Given the description of an element on the screen output the (x, y) to click on. 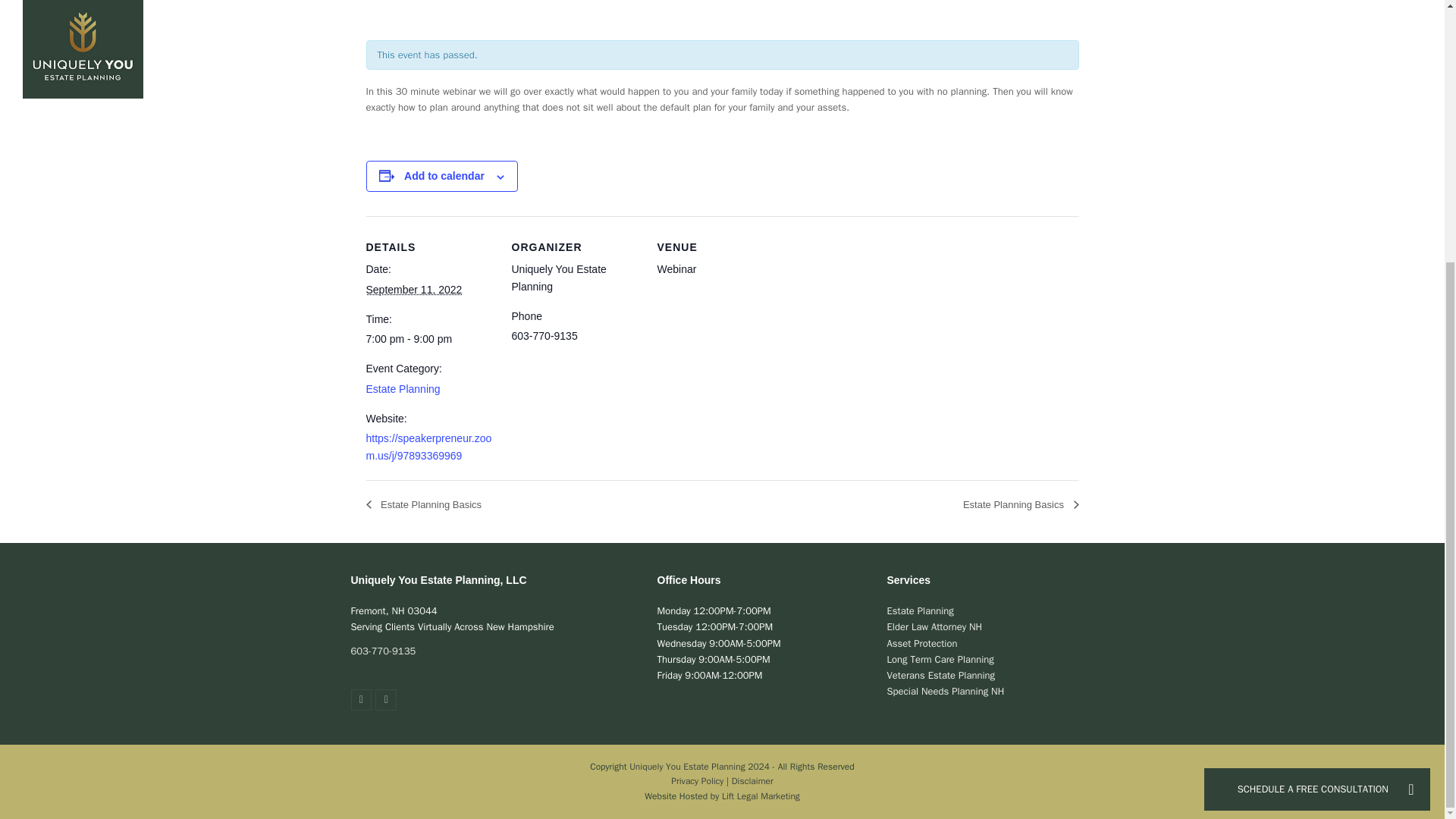
Estate Planning Basics (427, 504)
Estate Planning (402, 388)
Facebook (360, 699)
2022-09-11 (413, 289)
LinkedIn (385, 699)
Facebook (360, 699)
Add to calendar (444, 175)
Estate Planning Basics (1016, 504)
603-770-9135 (382, 650)
2022-09-11 (429, 339)
